Given the description of an element on the screen output the (x, y) to click on. 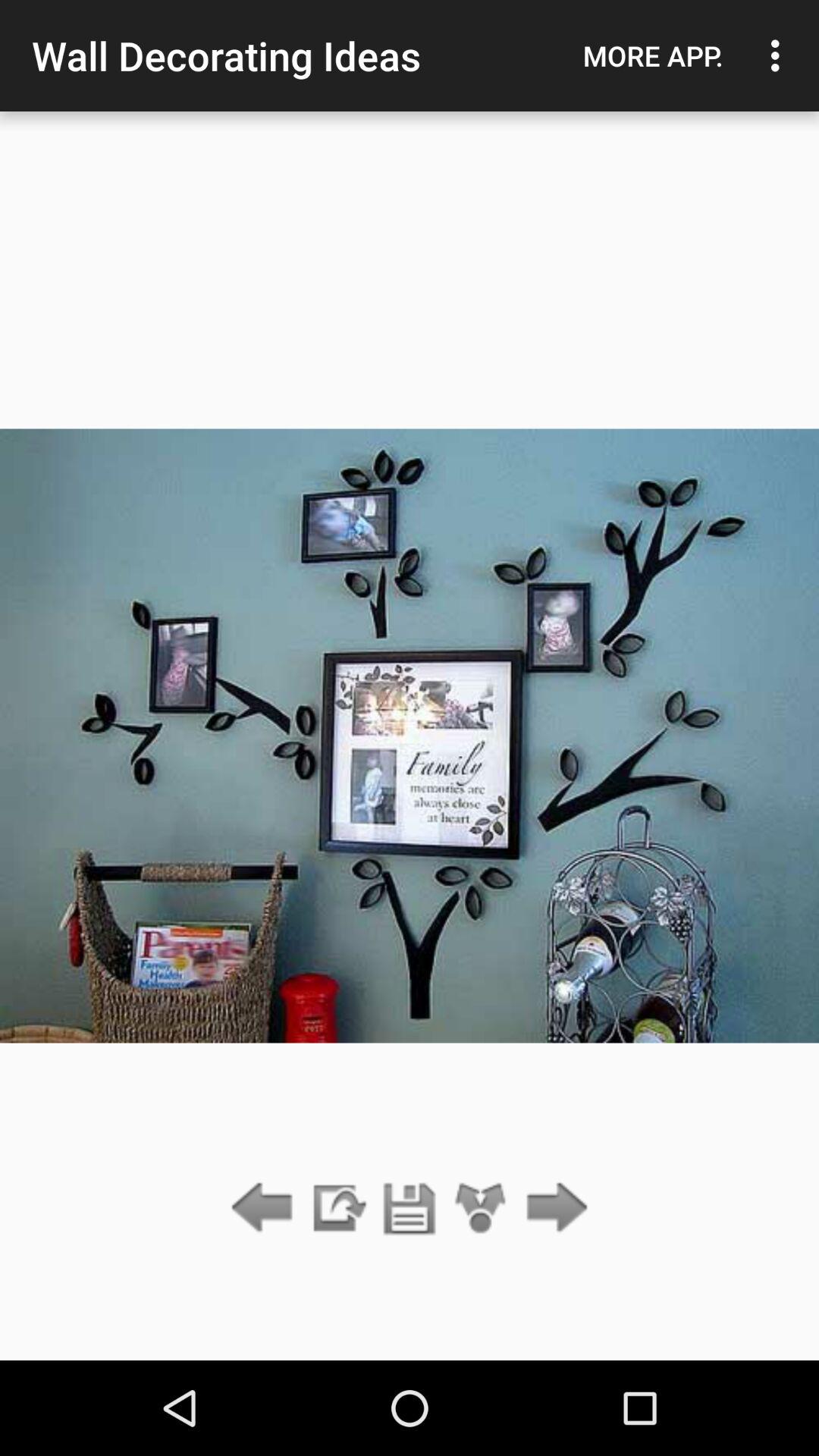
swipe to more app. (653, 55)
